Given the description of an element on the screen output the (x, y) to click on. 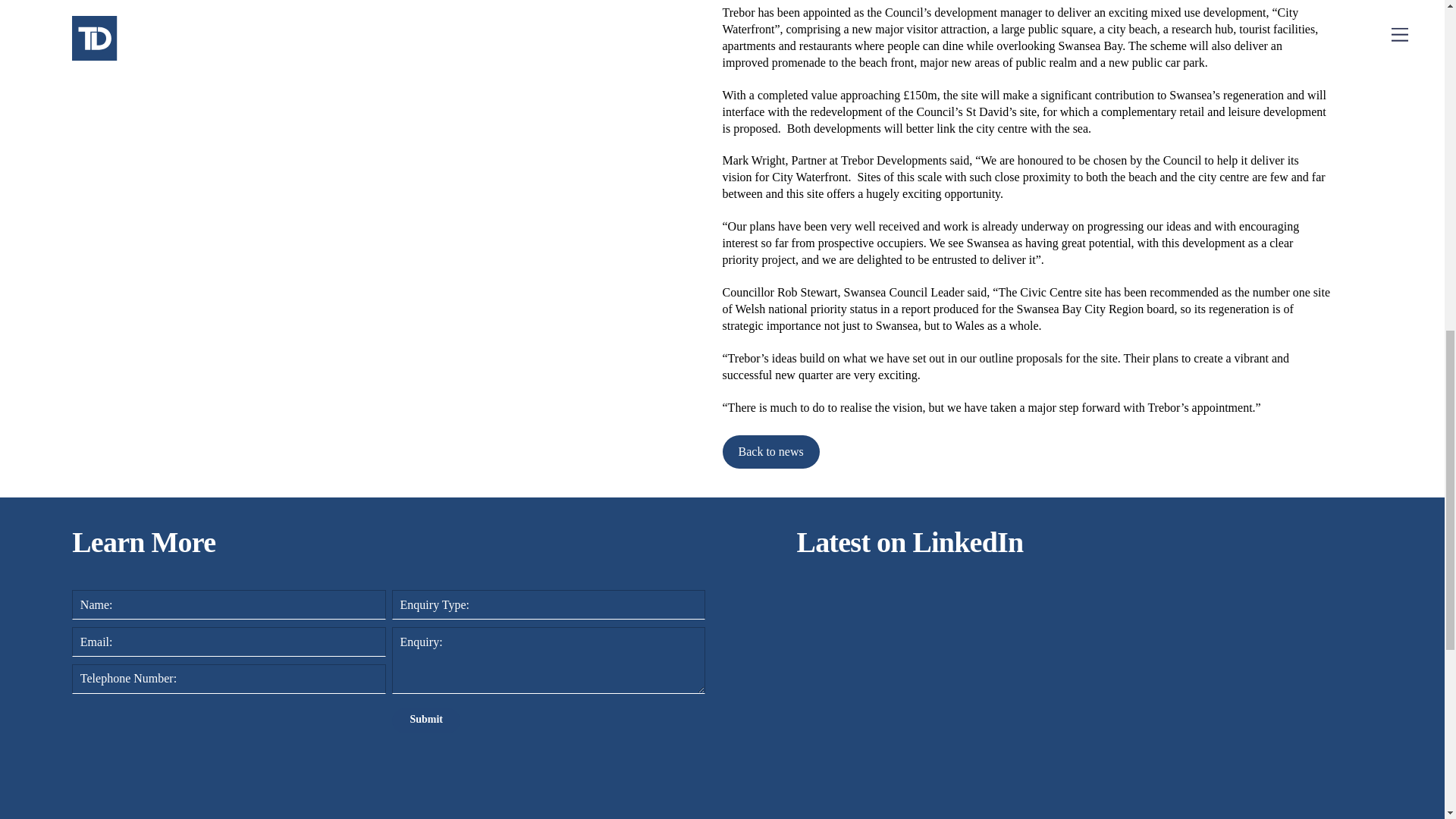
Submit (425, 720)
